Given the description of an element on the screen output the (x, y) to click on. 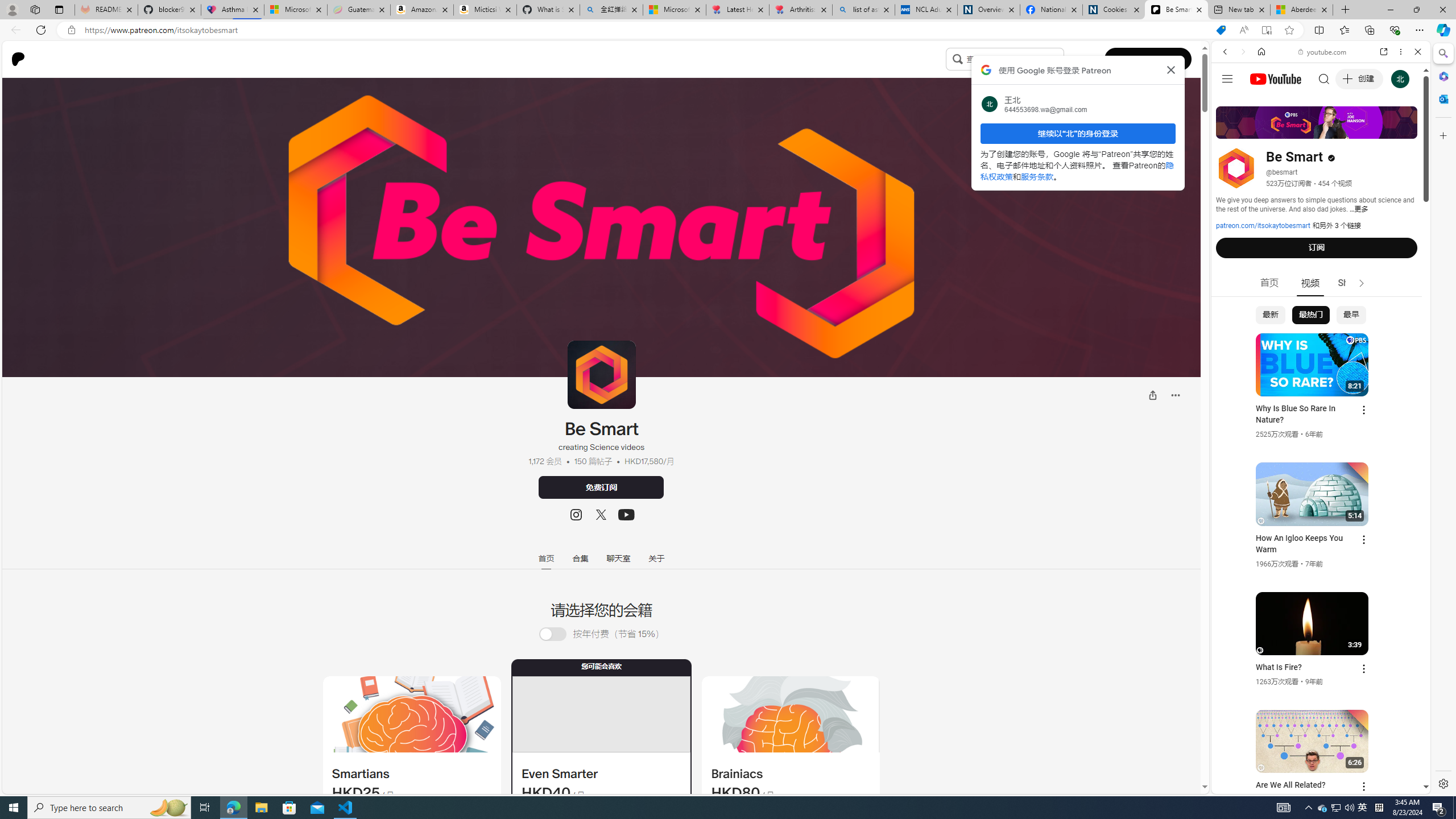
Class: sc-gUQvok bqiJlM (1061, 58)
Loading (558, 633)
Open link in new tab (1383, 51)
Google (1320, 281)
Close Outlook pane (1442, 98)
